Given the description of an element on the screen output the (x, y) to click on. 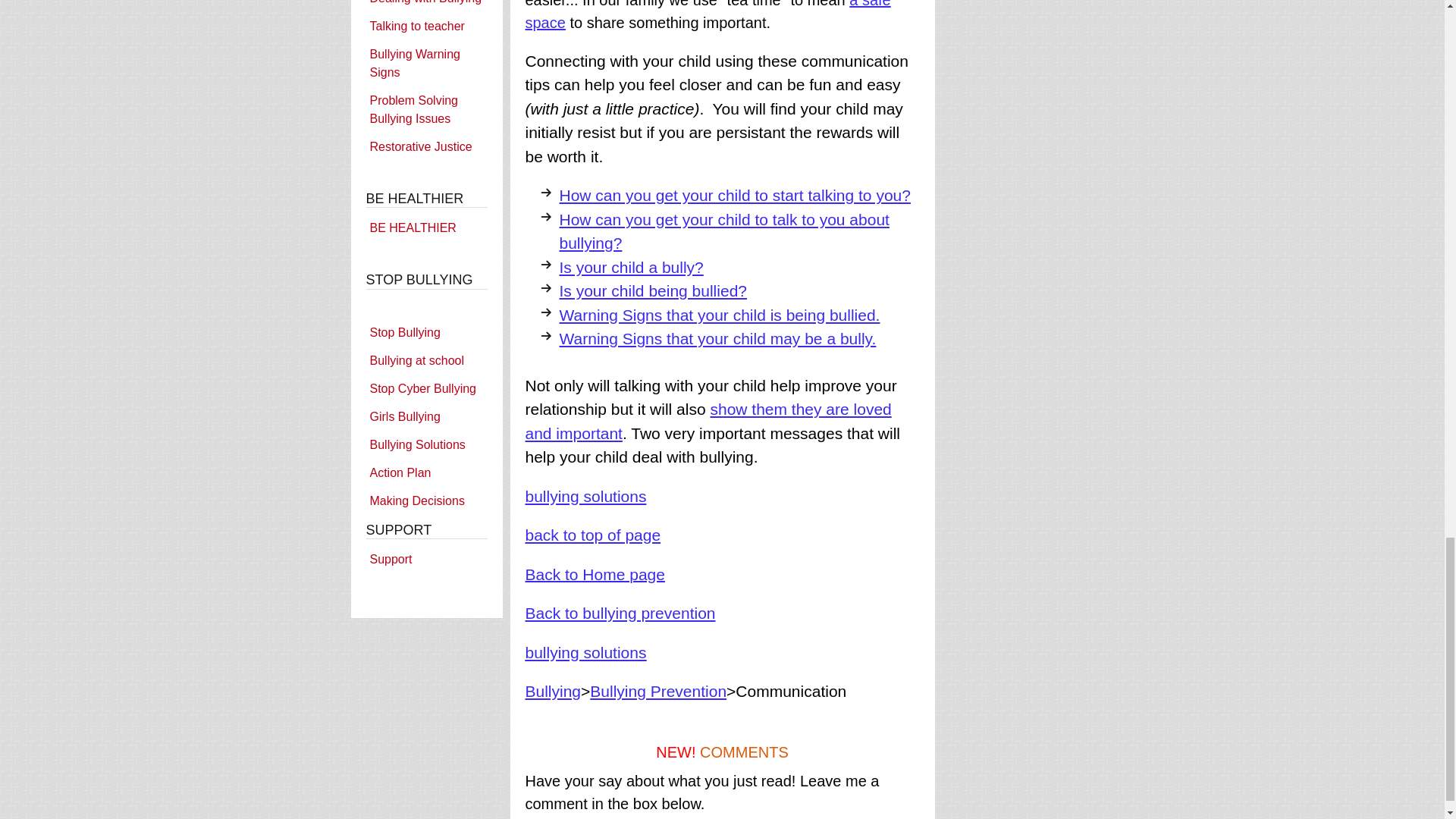
a safe space (706, 15)
Bullying Prevention (657, 691)
Is your child being bullied? (653, 290)
Bullying (552, 691)
bullying solutions (585, 651)
bullying solutions (585, 495)
Warning Signs that your child is being bullied. (719, 314)
How can you get your child to talk to you about bullying? (724, 231)
How can you get your child to start talking to you? (735, 194)
show them they are loved and important (707, 421)
Is your child a bully? (631, 266)
Warning Signs that your child may be a bully. (717, 338)
Back to Home page (593, 573)
back to top of page (592, 534)
Back to bullying prevention (619, 612)
